Given the description of an element on the screen output the (x, y) to click on. 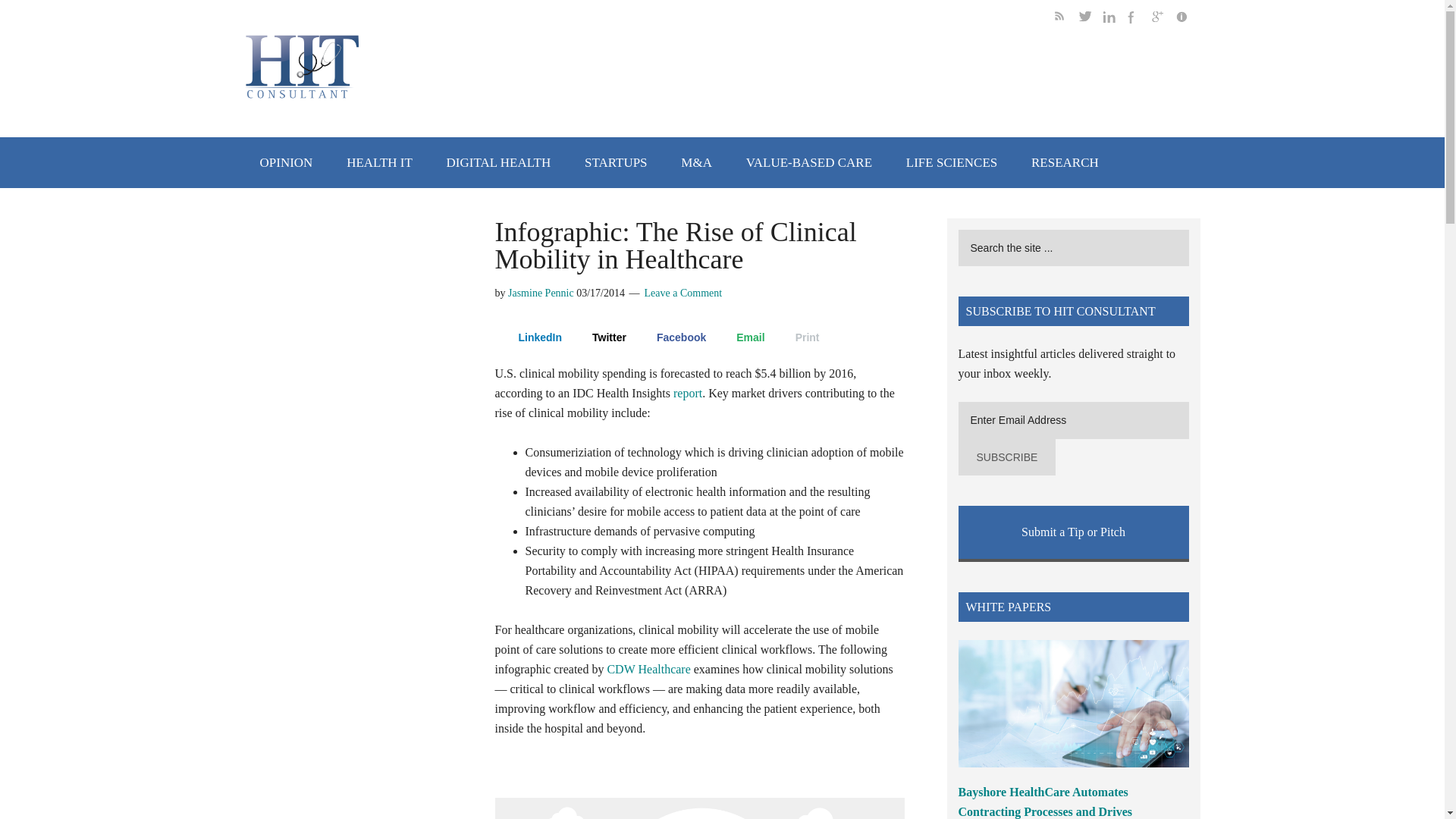
OPINION (285, 162)
Twitter (601, 337)
follow (1162, 19)
STARTUPS (615, 162)
follow (1114, 19)
HEALTH IT (379, 162)
Leave a Comment (683, 292)
VALUE-BASED CARE (808, 162)
DIGITAL HEALTH (498, 162)
